Given the description of an element on the screen output the (x, y) to click on. 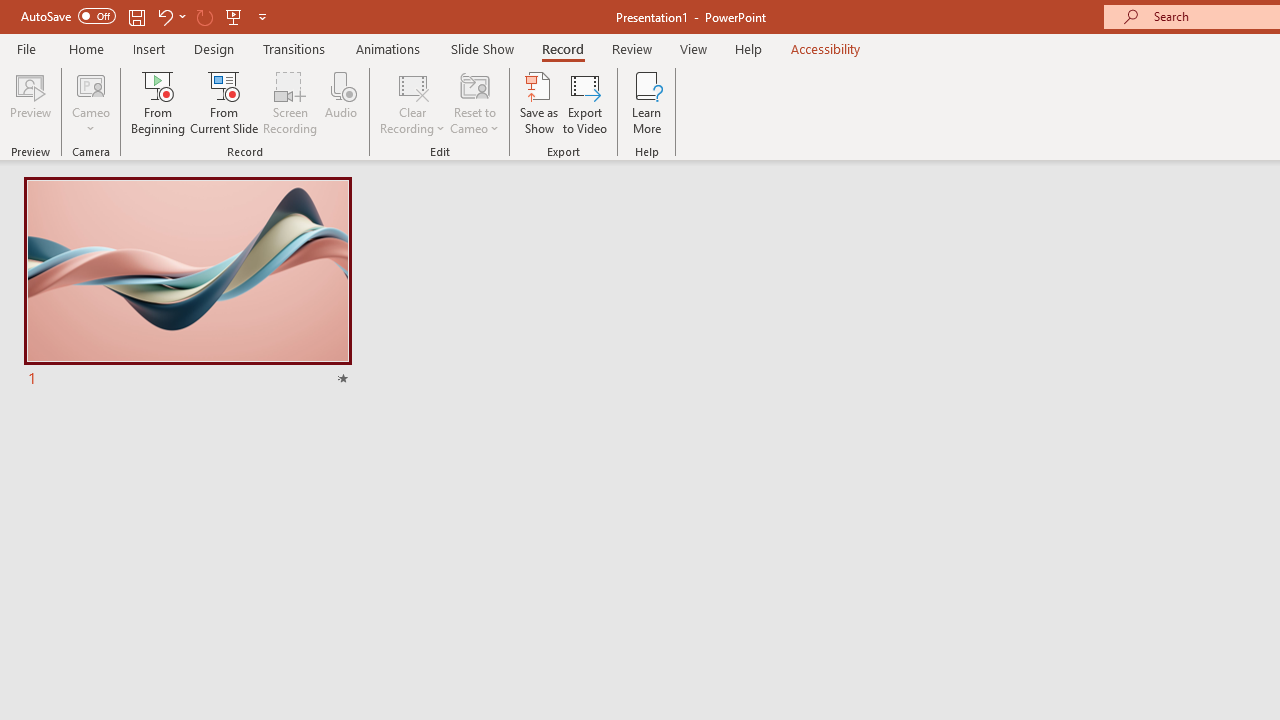
Learn More (646, 102)
Export to Video (585, 102)
Cameo (91, 84)
Reset to Cameo (474, 102)
From Beginning... (158, 102)
Clear Recording (412, 102)
